Given the description of an element on the screen output the (x, y) to click on. 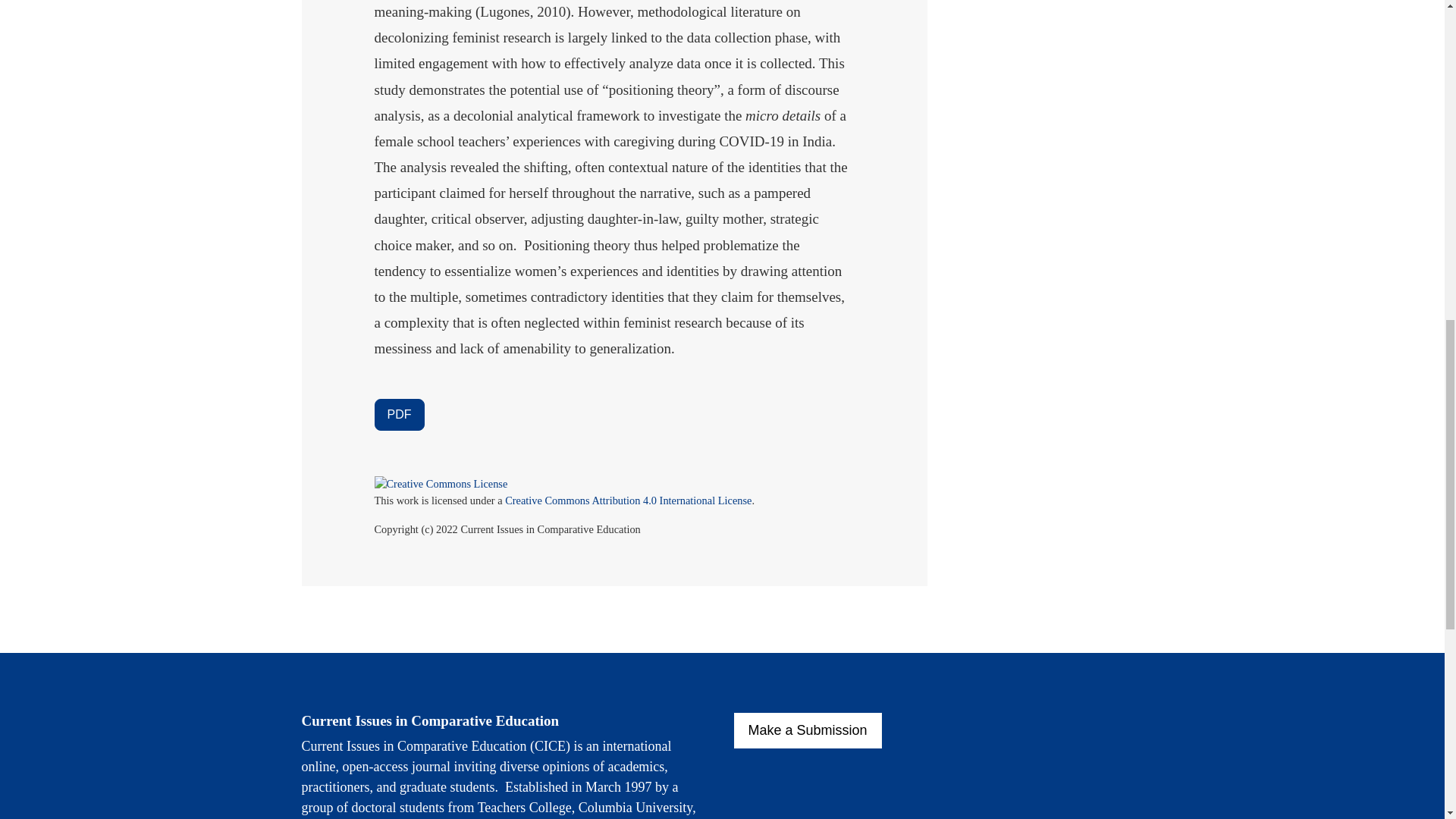
PDF (399, 414)
Creative Commons Attribution 4.0 International License (628, 500)
Make a Submission (807, 730)
